Given the description of an element on the screen output the (x, y) to click on. 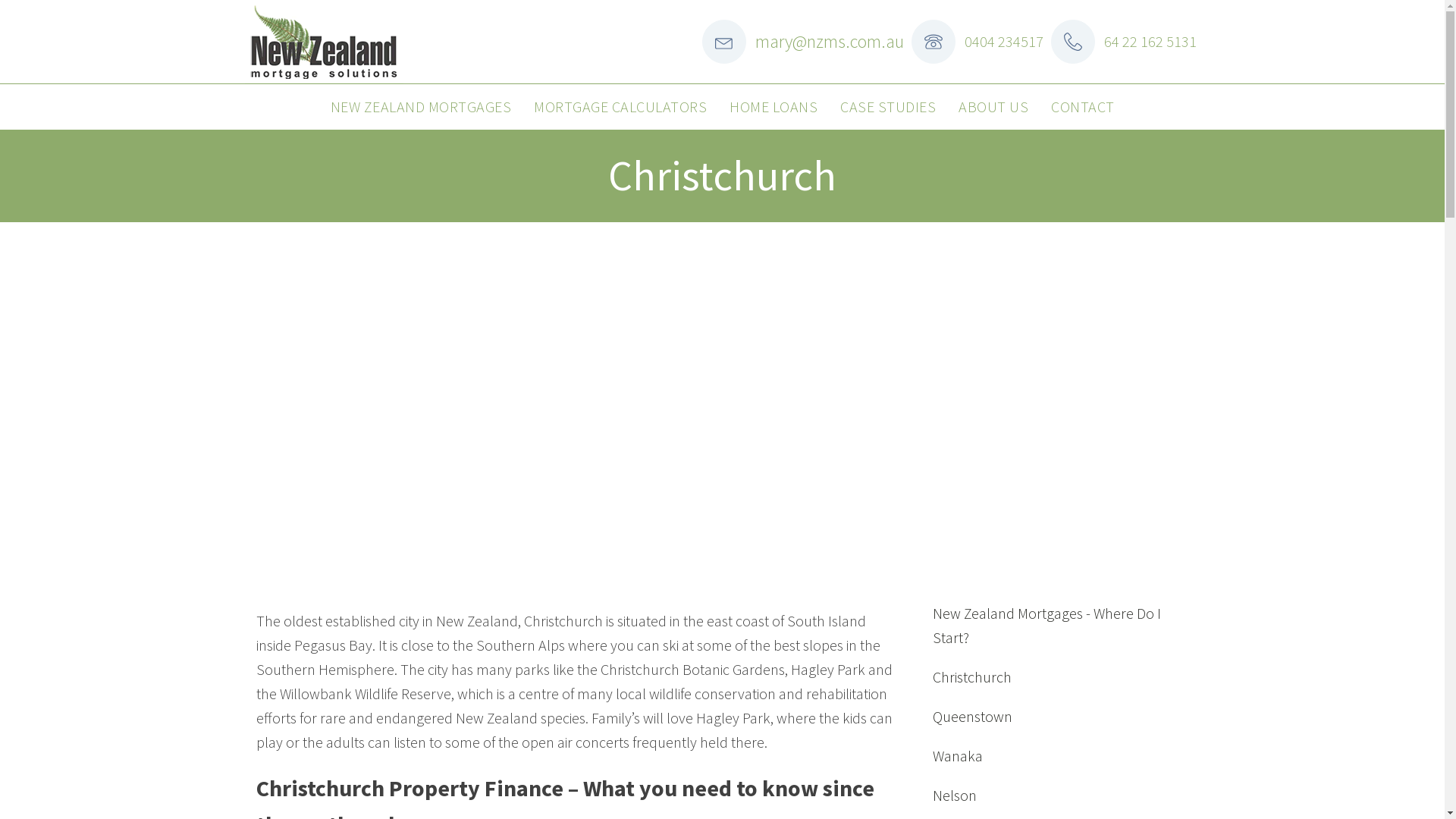
Christchurch Element type: text (972, 676)
64 22 162 5131 Element type: text (1150, 41)
New Zealand Mortgages - Where Do I Start? Element type: text (1057, 625)
HOME LOANS Element type: text (773, 106)
ABOUT US Element type: text (993, 106)
CONTACT Element type: text (1082, 106)
0404 234517 Element type: text (1003, 41)
NEW ZEALAND MORTGAGES Element type: text (420, 106)
mary@nzms.com.au Element type: text (829, 41)
Queenstown Element type: text (972, 716)
Nelson Element type: text (954, 795)
CASE STUDIES Element type: text (887, 106)
Wanaka Element type: text (957, 755)
MORTGAGE CALCULATORS Element type: text (620, 106)
